Given the description of an element on the screen output the (x, y) to click on. 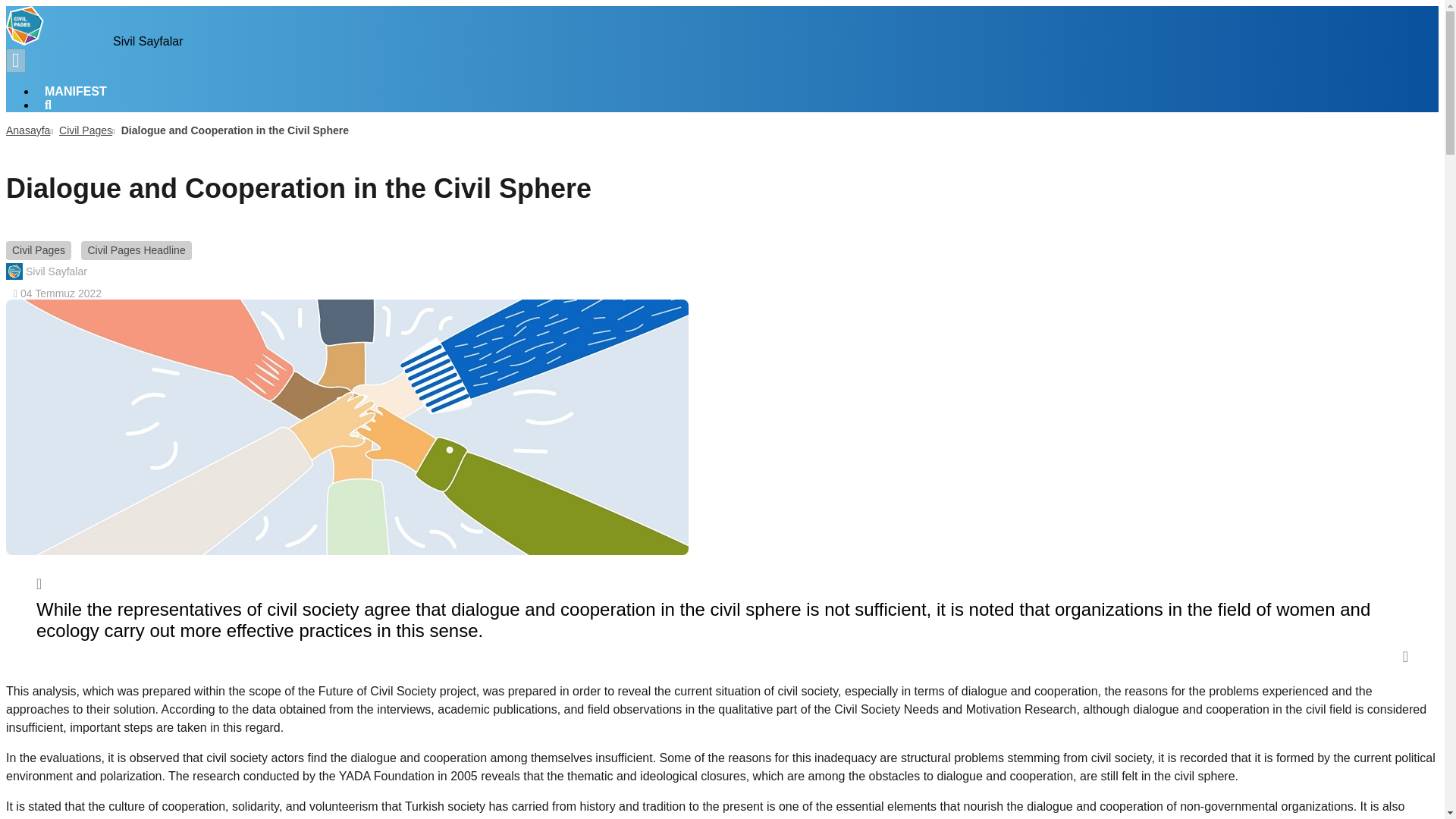
Civil Pages Headline (135, 250)
Sivil Sayfalar (46, 271)
Civil Pages (85, 130)
MANIFEST (75, 90)
Civil Pages (38, 250)
Anasayfa (27, 130)
Sivil Sayfalar (94, 41)
